Given the description of an element on the screen output the (x, y) to click on. 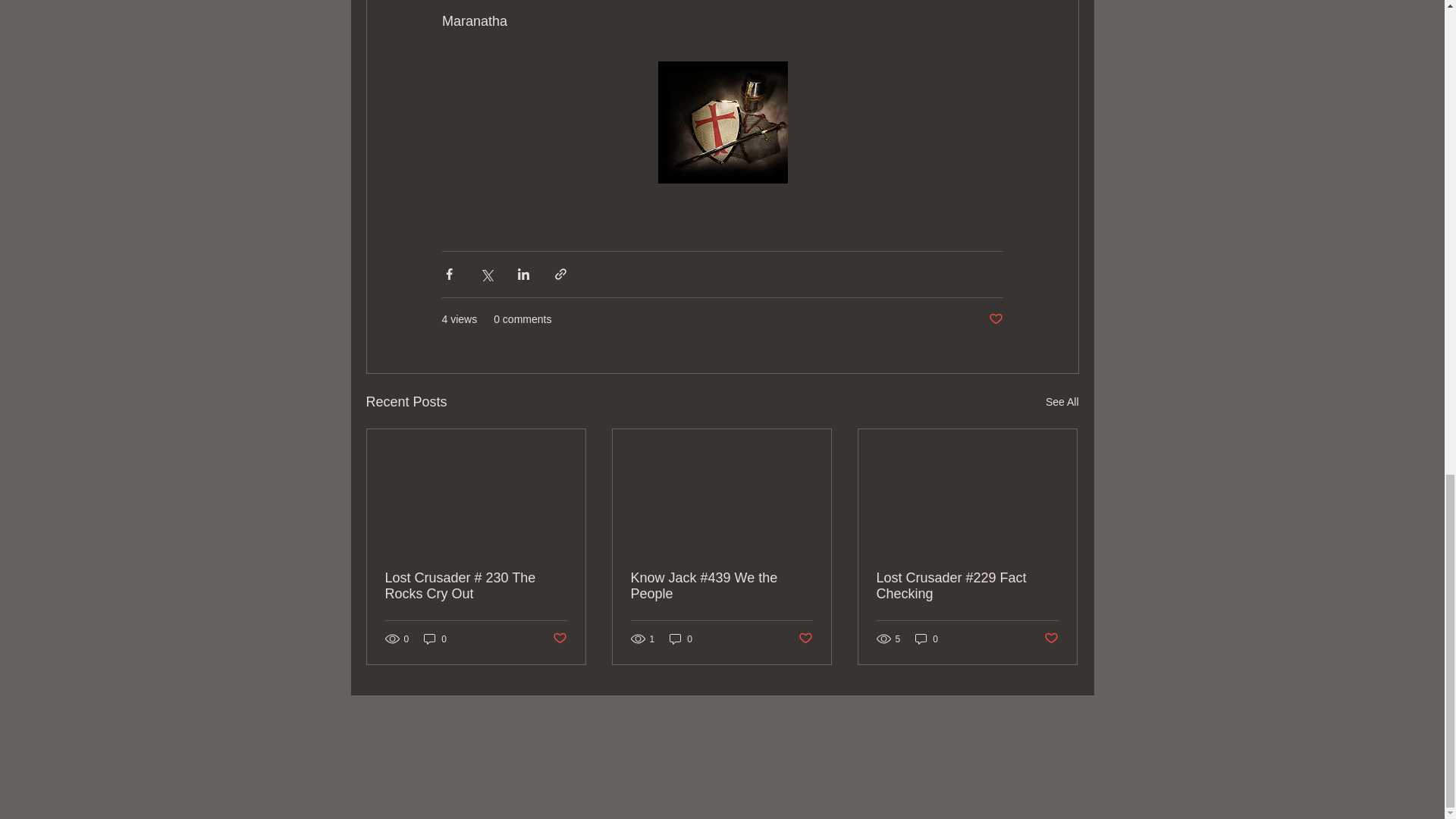
See All (1061, 402)
Post not marked as liked (804, 638)
0 (435, 638)
0 (926, 638)
Post not marked as liked (558, 638)
Post not marked as liked (1050, 638)
0 (681, 638)
Post not marked as liked (995, 318)
